Given the description of an element on the screen output the (x, y) to click on. 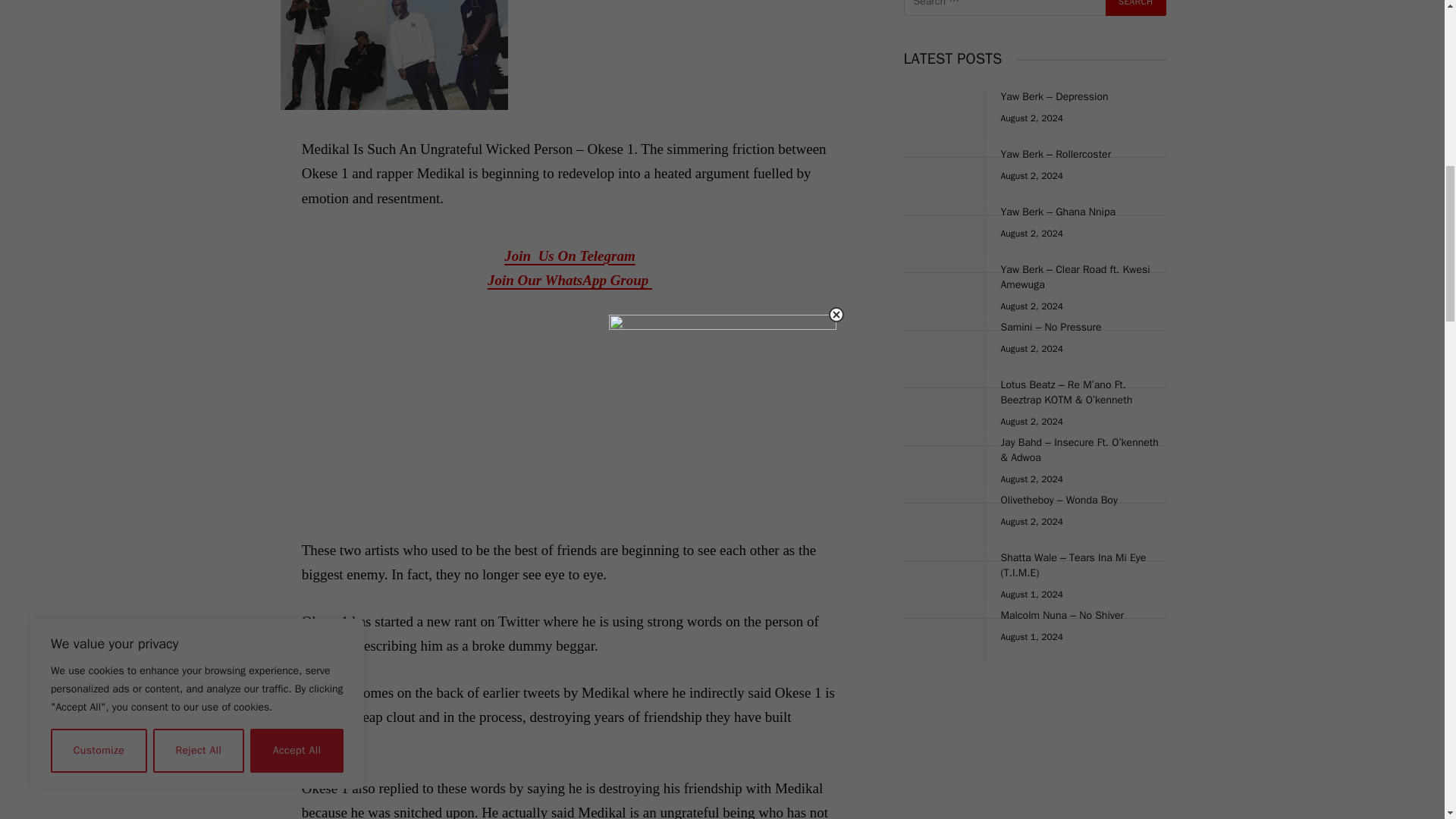
Search (1135, 7)
Advertisement (569, 398)
Search (1135, 7)
Medikal Is Such An Ungrateful Wicked Person - Okese 1 (394, 54)
